Given the description of an element on the screen output the (x, y) to click on. 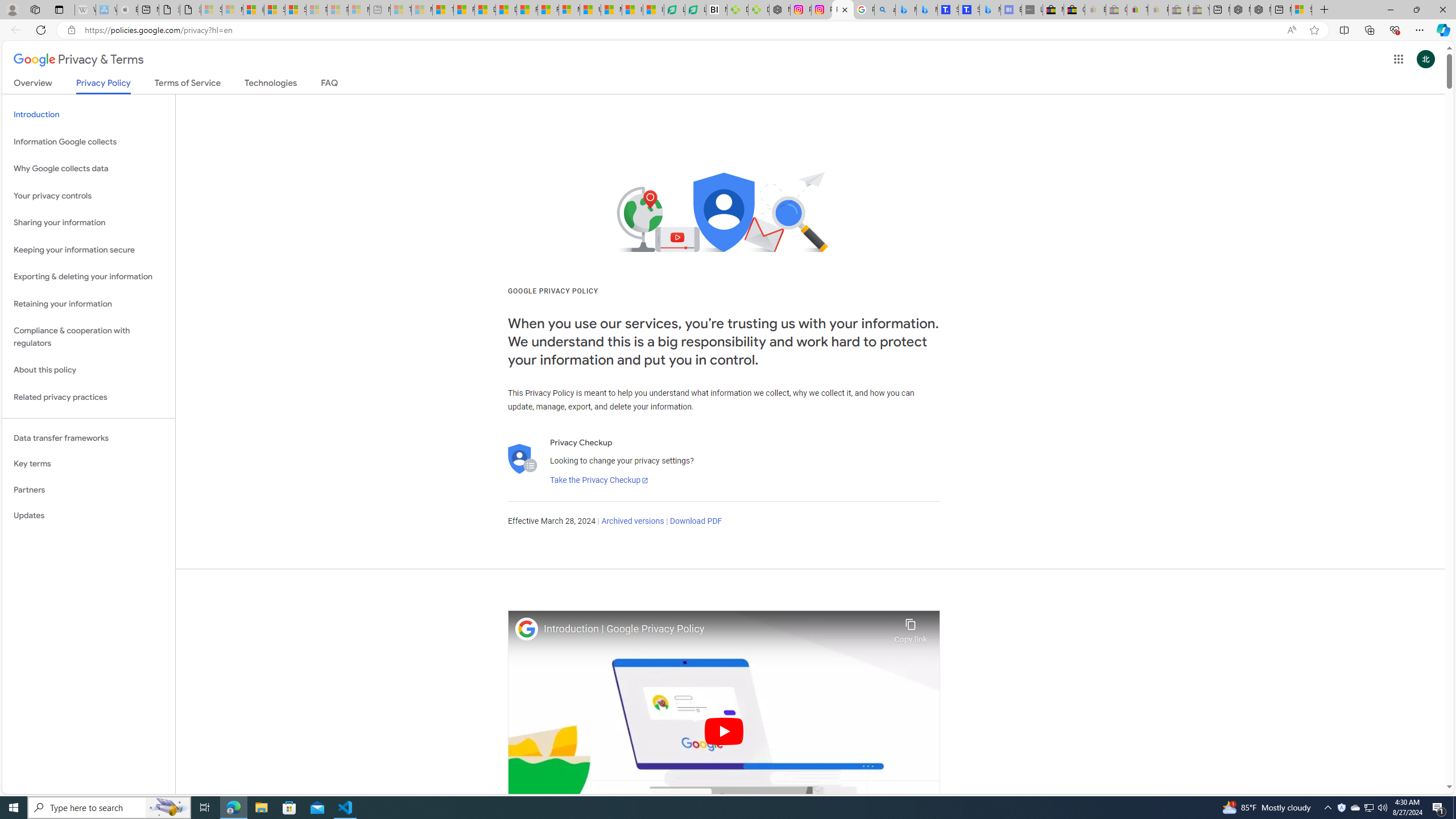
Nordace - Summer Adventures 2024 (1259, 9)
Exporting & deleting your information (88, 276)
Photo image of Google (526, 628)
Microsoft Bing Travel - Shangri-La Hotel Bangkok (990, 9)
Compliance & cooperation with regulators (88, 337)
New tab - Sleeping (379, 9)
Payments Terms of Use | eBay.com - Sleeping (1157, 9)
Overview (32, 84)
Microsoft Bing Travel - Flights from Hong Kong to Bangkok (906, 9)
Keeping your information secure (88, 249)
